Given the description of an element on the screen output the (x, y) to click on. 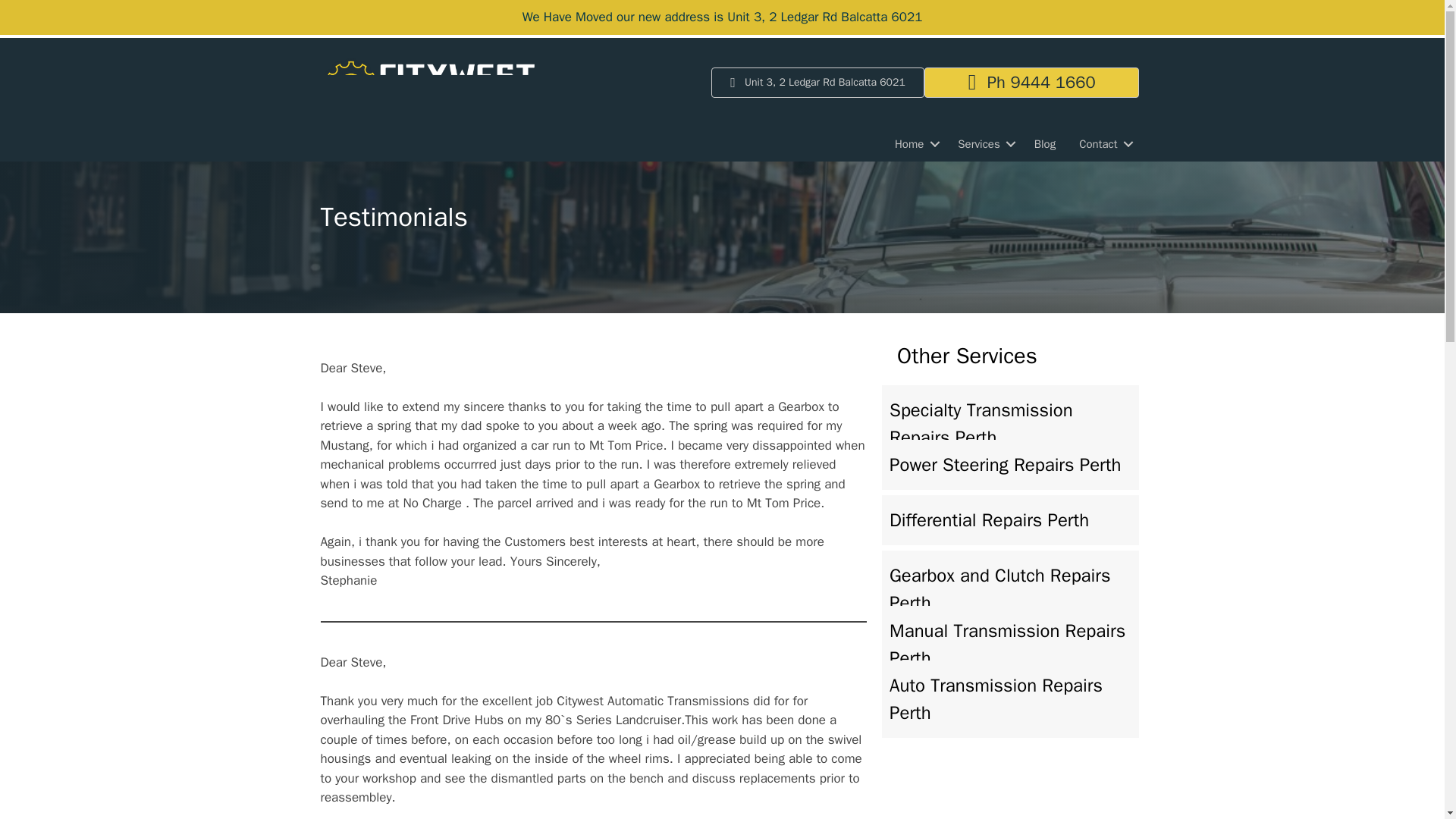
city west white (427, 90)
Gearbox and Clutch Repairs Perth (1010, 589)
Contact (1102, 144)
Manual Transmission Repairs Perth (1010, 644)
Blog (1045, 144)
Power Steering Repairs Perth (1010, 464)
Ph 9444 1660 (1032, 82)
Differential Repairs Perth (1010, 520)
Unit 3, 2 Ledgar Rd Balcatta 6021 (817, 82)
Specialty Transmission Repairs Perth (1010, 423)
